Given the description of an element on the screen output the (x, y) to click on. 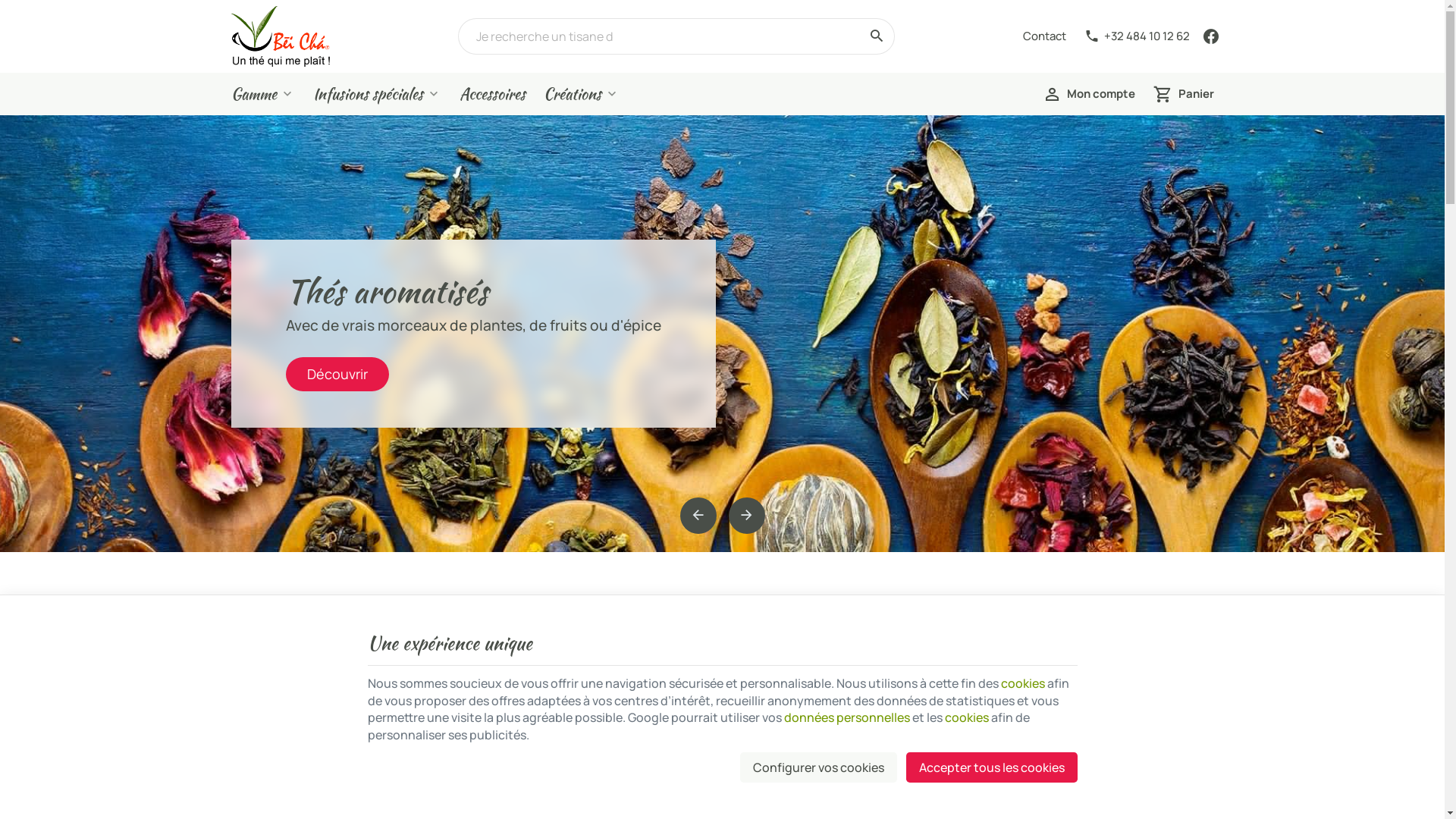
Accepter tous les cookies Element type: text (990, 767)
Bei Cha Element type: hover (279, 36)
cookies Element type: text (966, 717)
Contact Element type: text (1043, 36)
Gamme Element type: text (262, 93)
+32 484 10 12 62 Element type: text (1136, 36)
Mon compte Element type: text (1088, 93)
Bei Cha Element type: hover (279, 36)
cookies Element type: text (1022, 682)
Configurer vos cookies Element type: text (818, 767)
Accessoires Element type: text (492, 93)
Panier Element type: text (1183, 93)
